Given the description of an element on the screen output the (x, y) to click on. 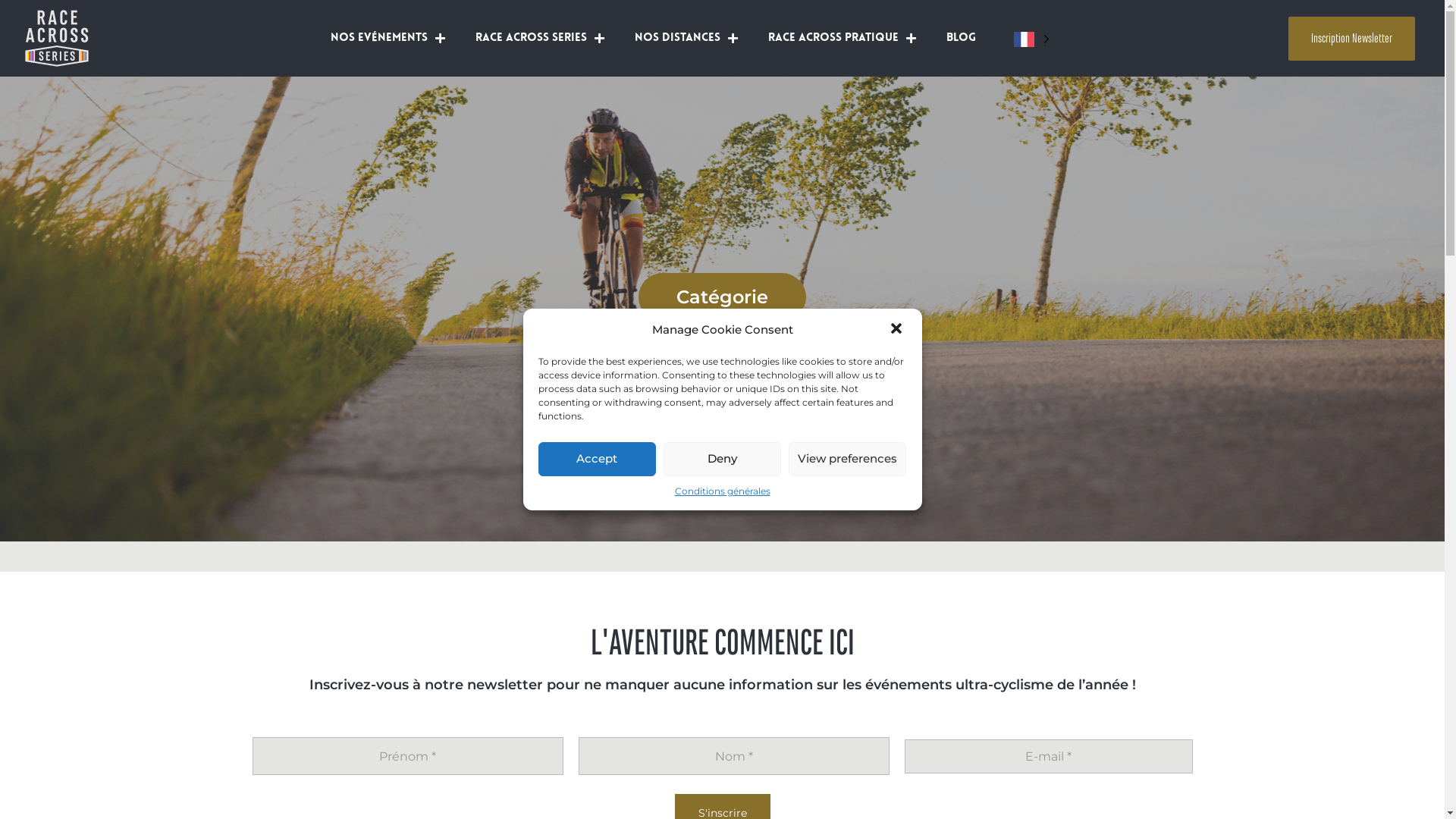
BLOG Element type: text (961, 38)
RACE ACROSS PRATIQUE Element type: text (842, 38)
Accept Element type: text (596, 459)
Deny Element type: text (722, 459)
NOS DISTANCES Element type: text (686, 38)
View preferences Element type: text (847, 459)
RACE ACROSS SERIES Element type: text (539, 38)
Inscription Newsletter Element type: text (1351, 38)
